Given the description of an element on the screen output the (x, y) to click on. 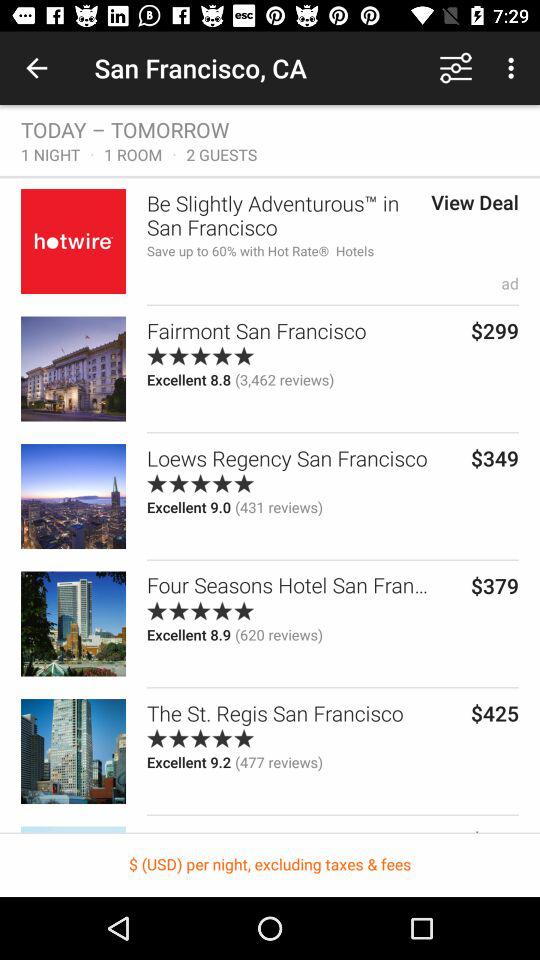
select the last image (73, 750)
select the second image from top (73, 369)
